Given the description of an element on the screen output the (x, y) to click on. 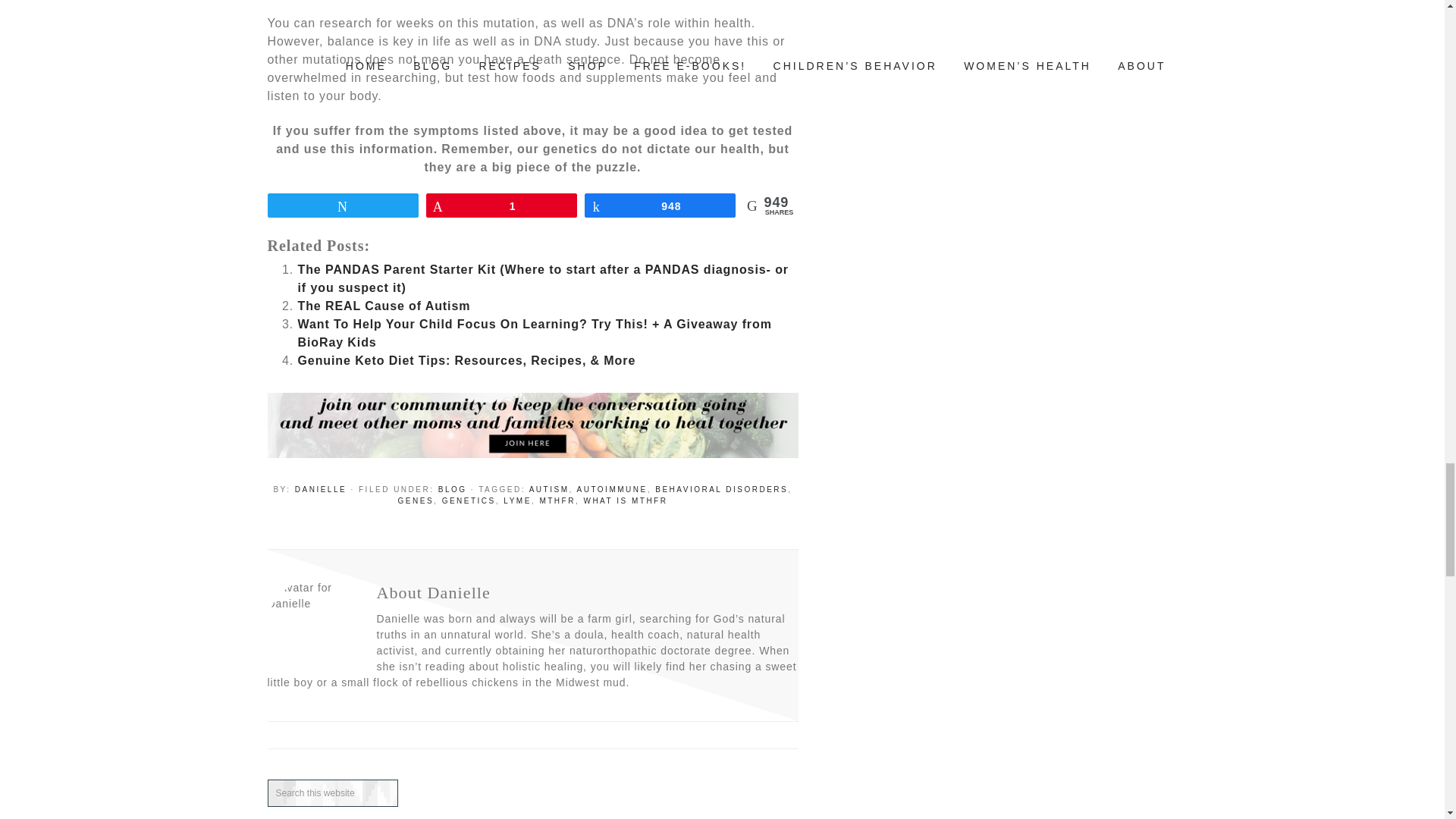
BLOG (452, 489)
948 (660, 205)
AUTISM (549, 489)
AUTOIMMUNE (611, 489)
DANIELLE (320, 489)
Gravatar for Danielle (312, 624)
The REAL Cause of Autism (383, 305)
The REAL Cause of Autism (383, 305)
BEHAVIORAL DISORDERS (721, 489)
1 (501, 205)
